Given the description of an element on the screen output the (x, y) to click on. 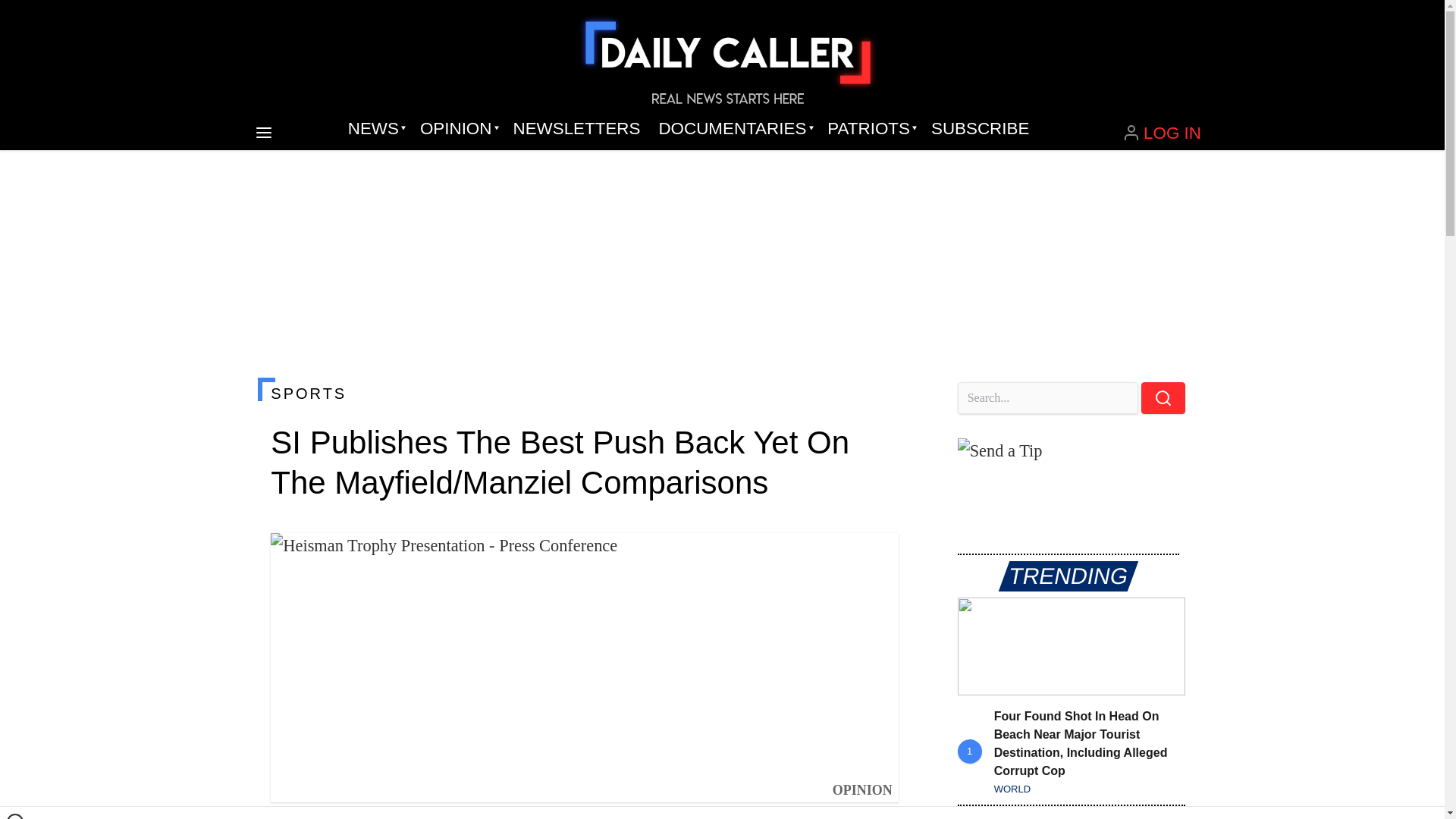
Close window (14, 816)
NEWSLETTERS (576, 128)
Toggle fullscreen (874, 556)
SPORTS (584, 393)
OPINION (456, 128)
NEWS (374, 128)
SUBSCRIBE (979, 128)
PATRIOTS (869, 128)
DOCUMENTARIES (733, 128)
